Given the description of an element on the screen output the (x, y) to click on. 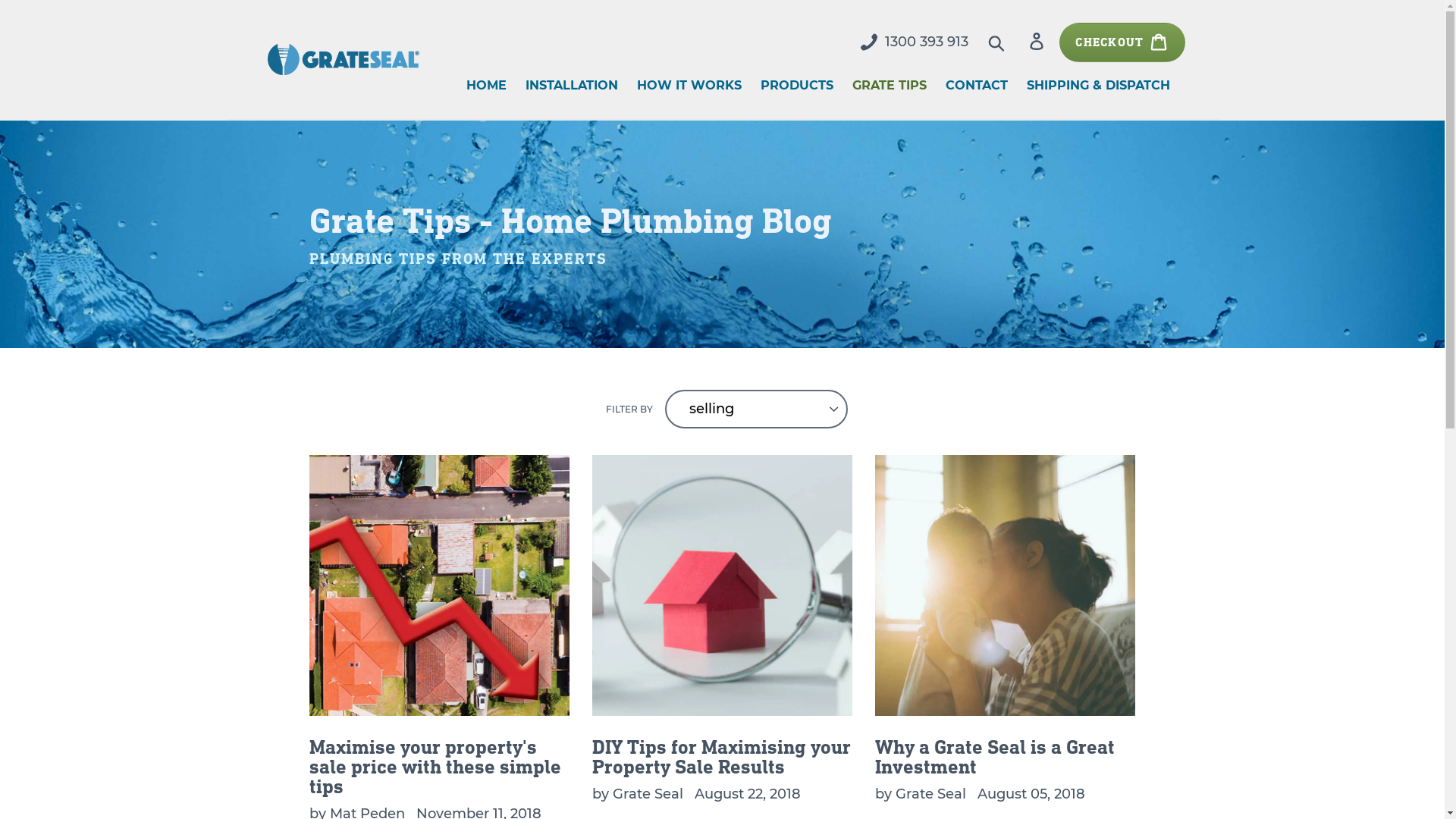
CONTACT Element type: text (975, 84)
PRODUCTS Element type: text (796, 84)
Log in Element type: text (1037, 42)
HOW IT WORKS Element type: text (689, 84)
Submit Element type: text (997, 42)
1300 393 913 Element type: text (913, 41)
INSTALLATION Element type: text (570, 84)
DIY Tips for Maximising your Property Sale Results Element type: text (722, 615)
GRATE TIPS Element type: text (889, 84)
SHIPPING & DISPATCH Element type: text (1098, 84)
CHECKOUT
CART Element type: text (1121, 42)
HOME Element type: text (485, 84)
Maximise your property's sale price with these simple tips Element type: text (439, 625)
Why a Grate Seal is a Great Investment Element type: text (1005, 615)
